Given the description of an element on the screen output the (x, y) to click on. 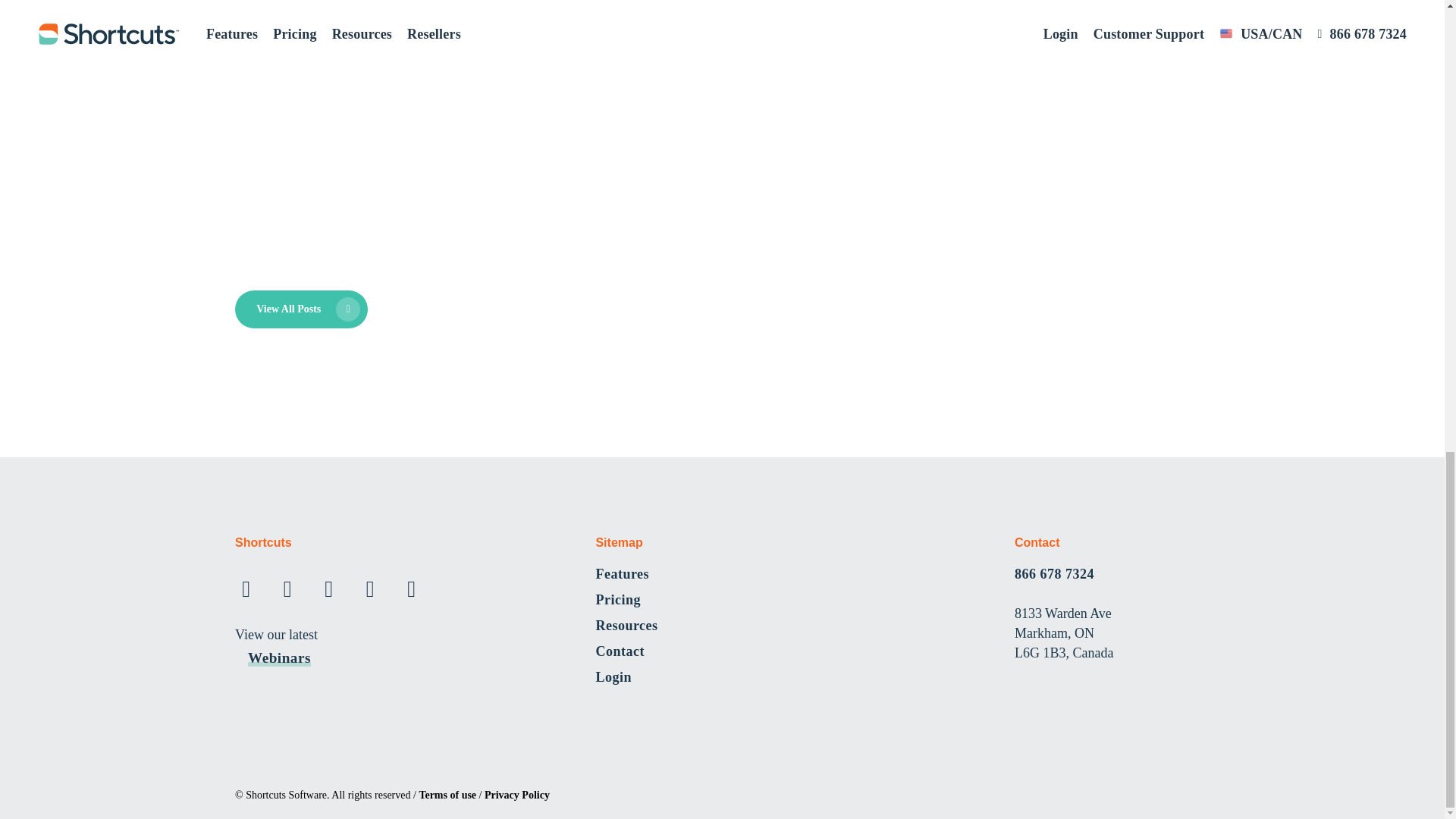
View All Posts (301, 309)
